Given the description of an element on the screen output the (x, y) to click on. 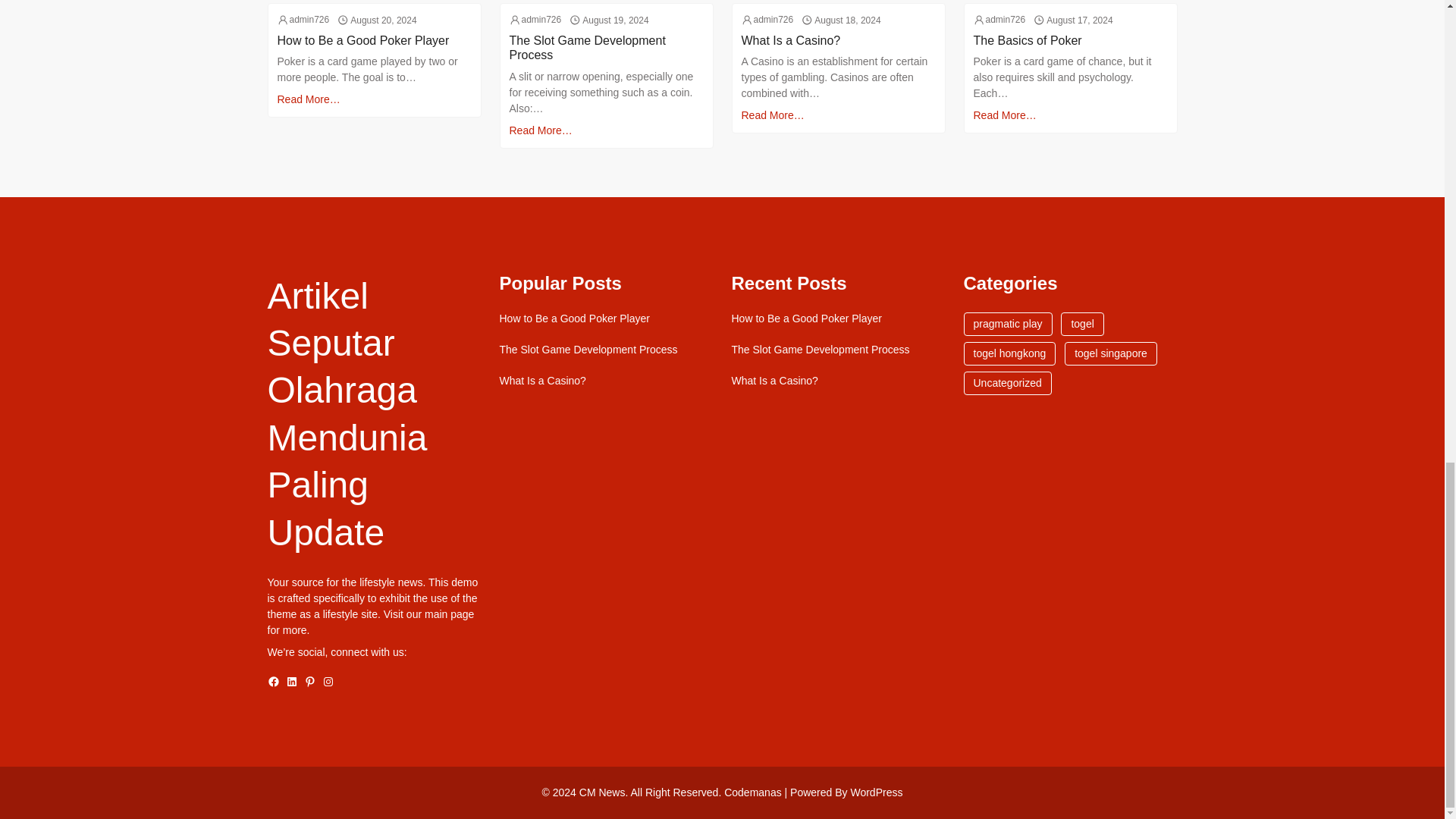
Facebook (272, 681)
pragmatic play (1006, 323)
How to Be a Good Poker Player (363, 40)
What Is a Casino? (791, 40)
The Slot Game Development Process (606, 47)
How to Be a Good Poker Player (805, 318)
What Is a Casino? (542, 380)
Pinterest (308, 681)
Instagram (327, 681)
LinkedIn (291, 681)
